Given the description of an element on the screen output the (x, y) to click on. 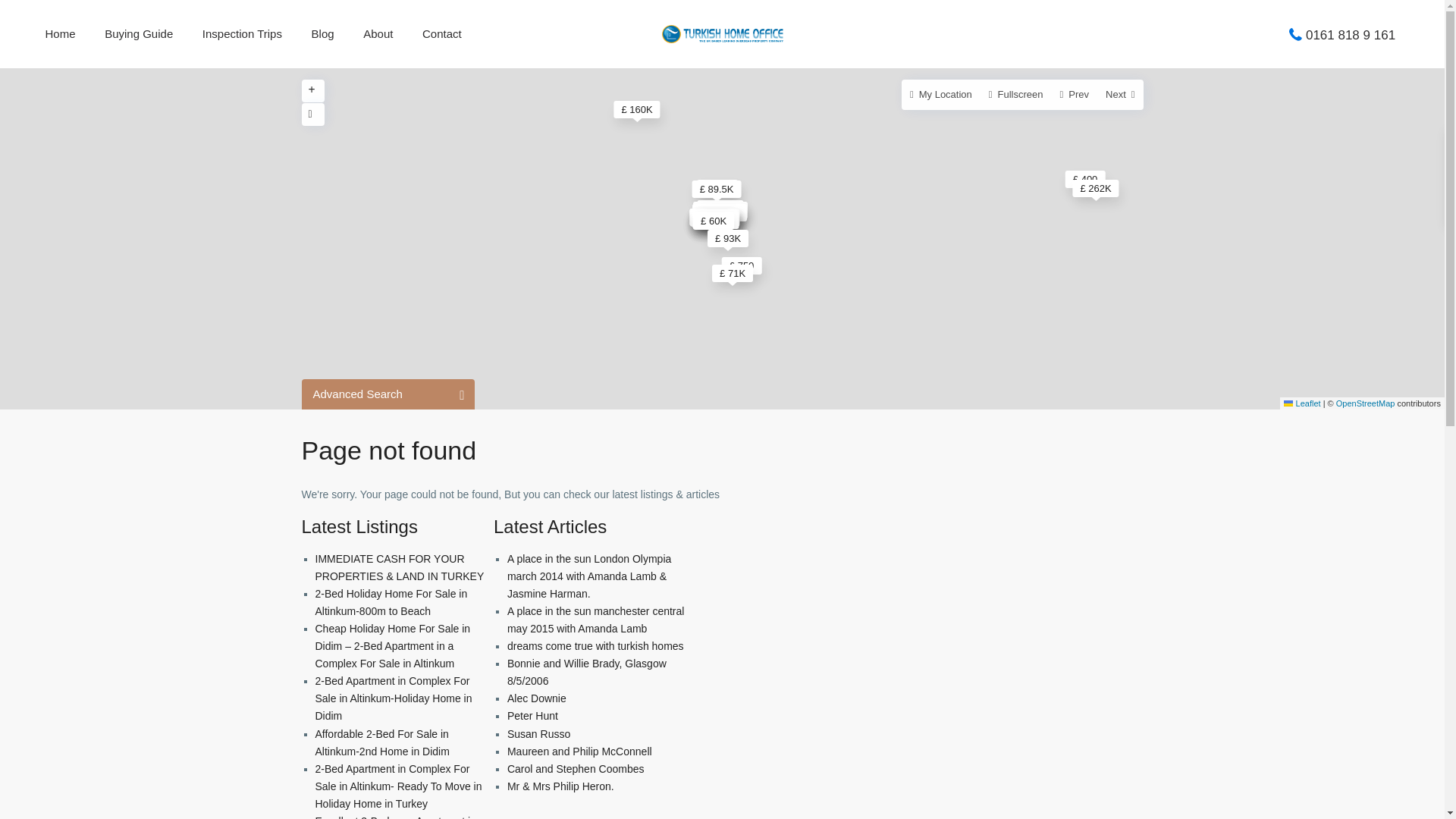
Inspection Trips (242, 33)
Affordable 2-Bed For Sale in Altinkum-2nd Home in Didim (382, 742)
About (378, 33)
A JavaScript library for interactive maps (1302, 402)
Buying Guide (138, 33)
OpenStreetMap (1365, 402)
Home (60, 33)
0161 818 9 161 (1350, 34)
Search Properties (409, 510)
2-Bed Holiday Home For Sale in Altinkum-800m to Beach (391, 602)
Leaflet (1302, 402)
Contact (441, 33)
